Given the description of an element on the screen output the (x, y) to click on. 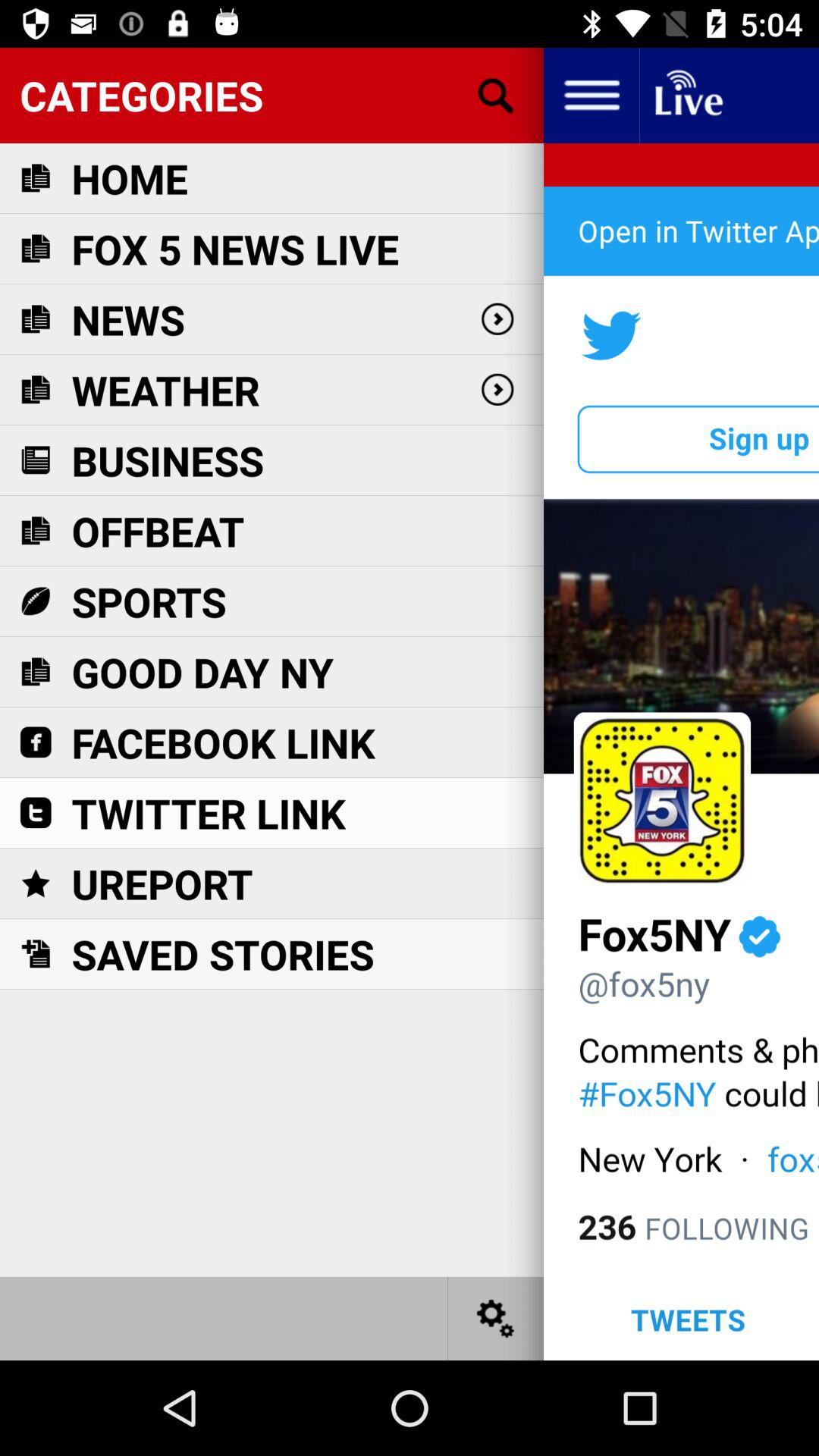
open facebook link (223, 742)
